Given the description of an element on the screen output the (x, y) to click on. 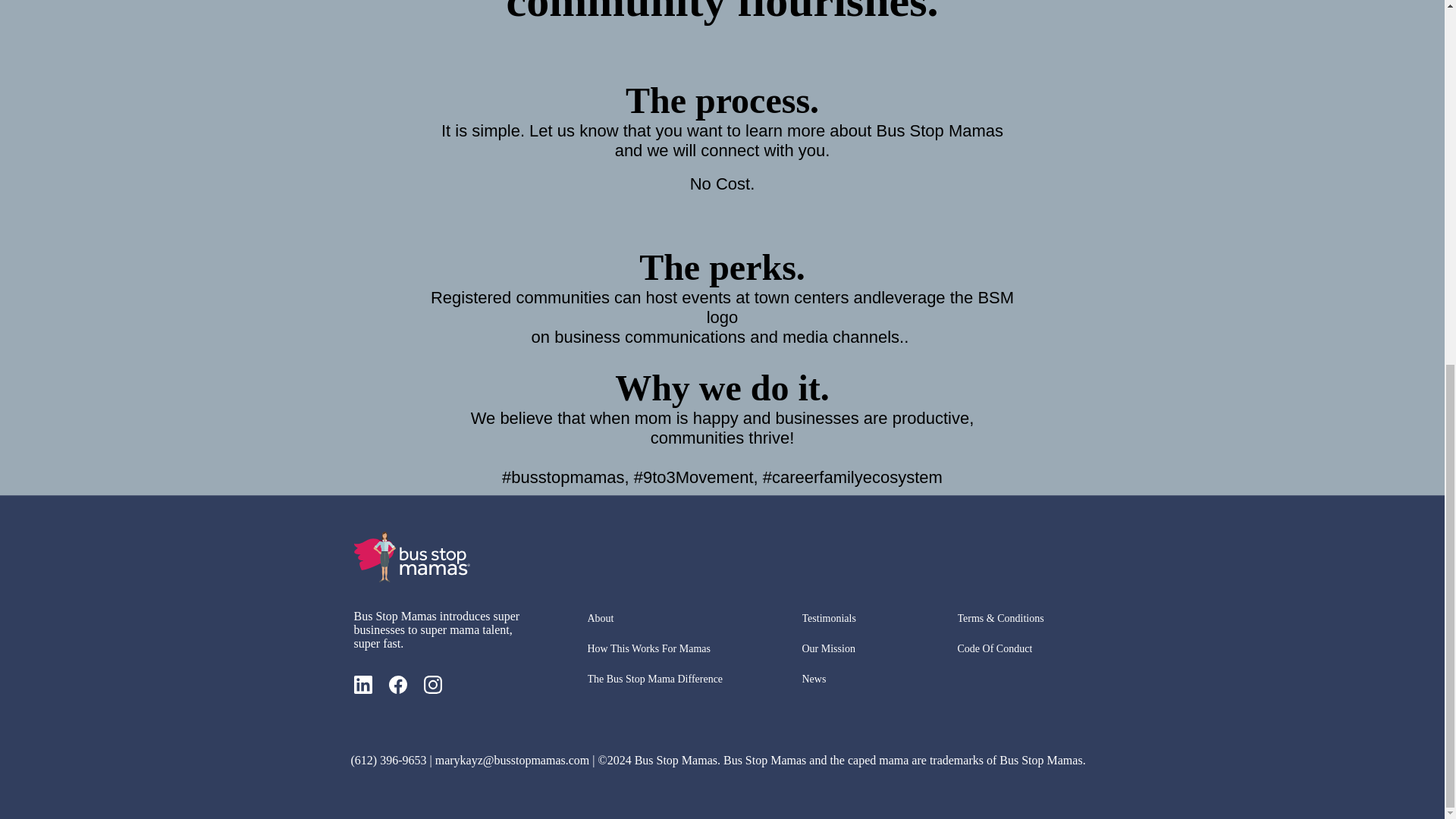
News (823, 679)
How This Works For Mamas (663, 648)
Testimonials (842, 618)
Our Mission (850, 648)
The Bus Stop Mama Difference (667, 679)
About (607, 618)
Code Of Conduct (1006, 648)
